Given the description of an element on the screen output the (x, y) to click on. 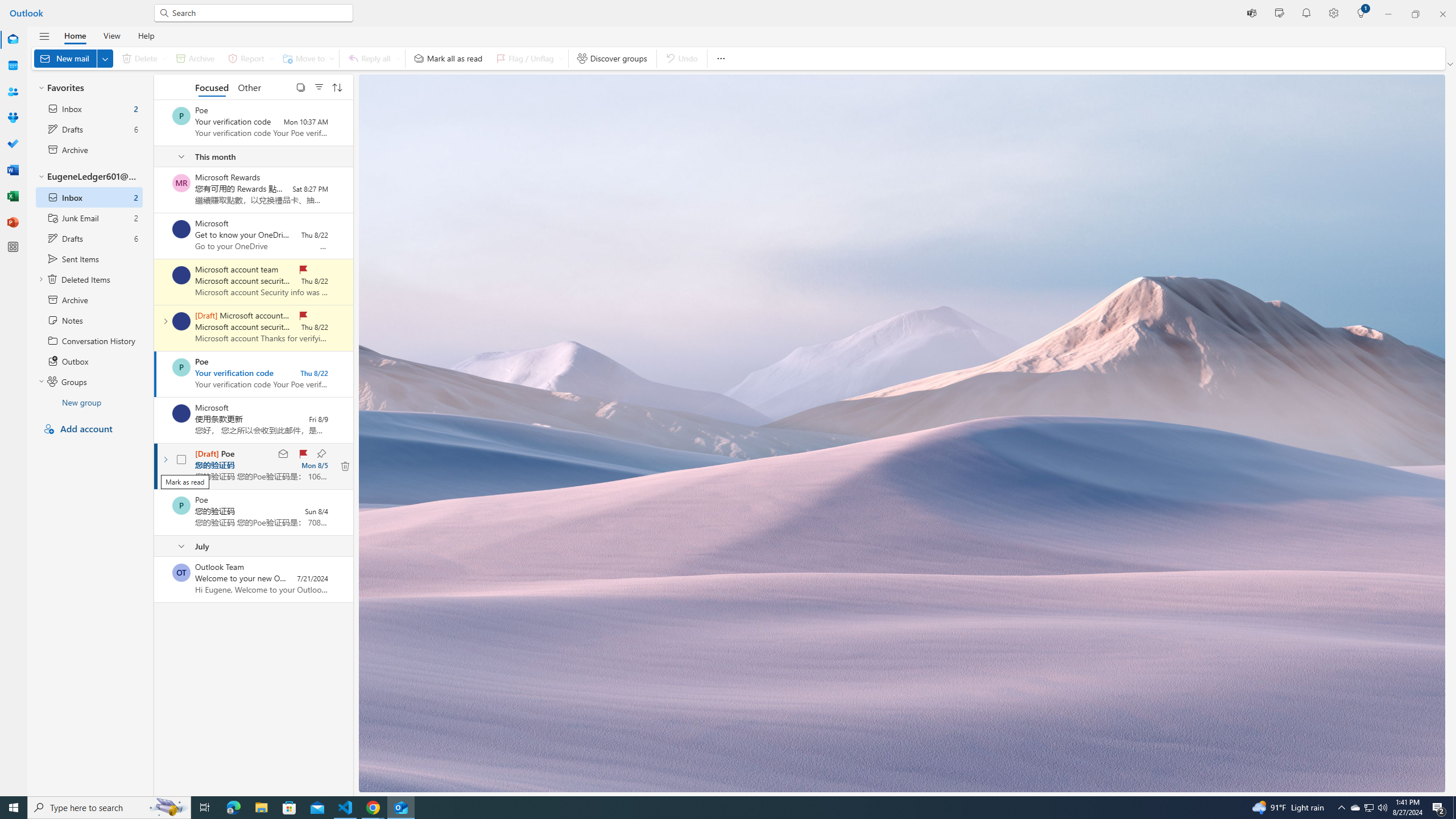
Groups (12, 117)
Mark as unread (154, 578)
Home (74, 35)
Undo (681, 58)
Reply all (372, 58)
Groups (12, 118)
Move to (306, 58)
Sorted: By Date (336, 86)
Report (248, 58)
Expand conversation (164, 459)
Hide navigation pane (44, 36)
Help (146, 35)
Class: KBPxt hn2lg (345, 466)
